Given the description of an element on the screen output the (x, y) to click on. 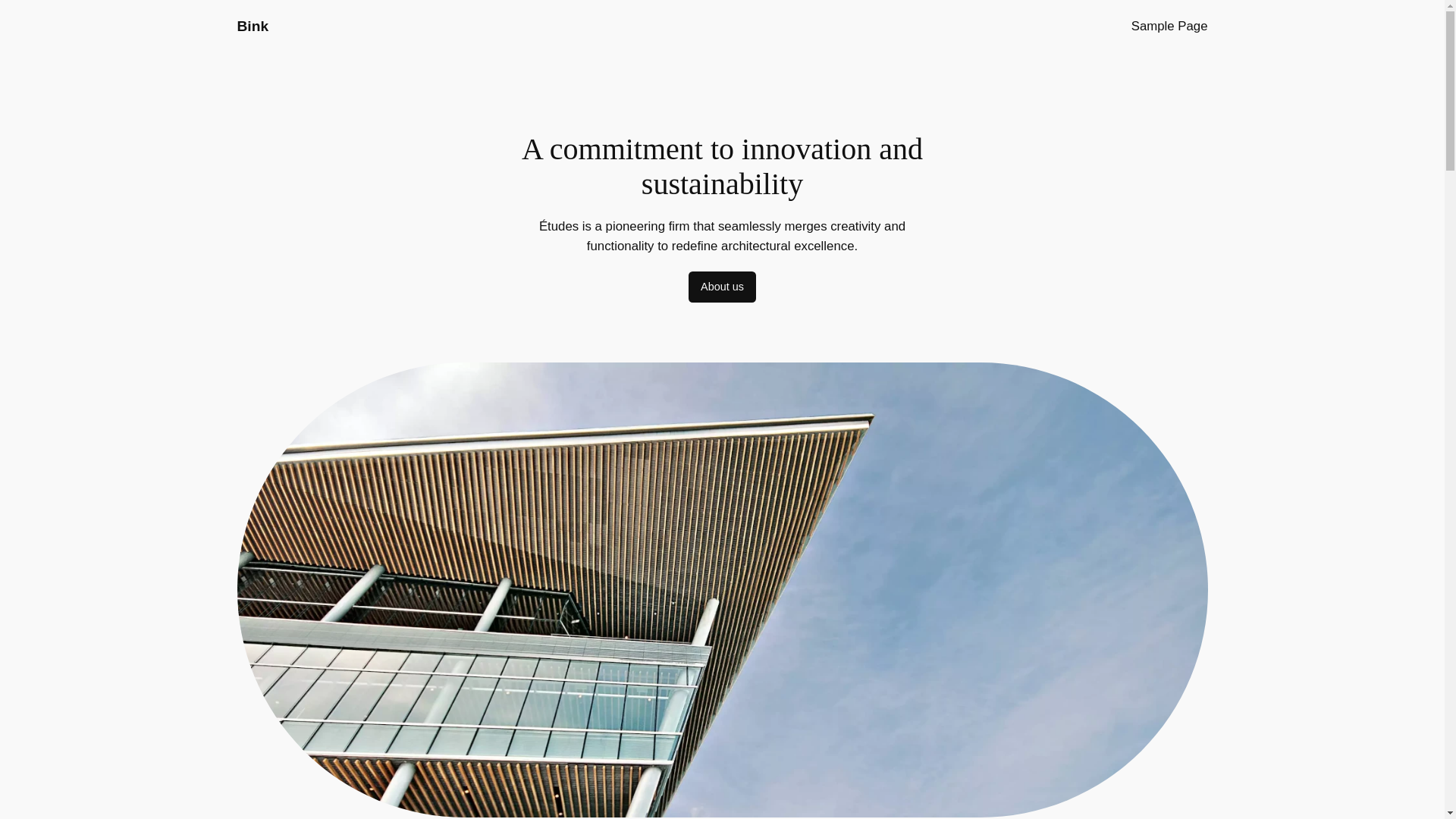
About us (721, 287)
Bink (251, 26)
Sample Page (1169, 26)
